Given the description of an element on the screen output the (x, y) to click on. 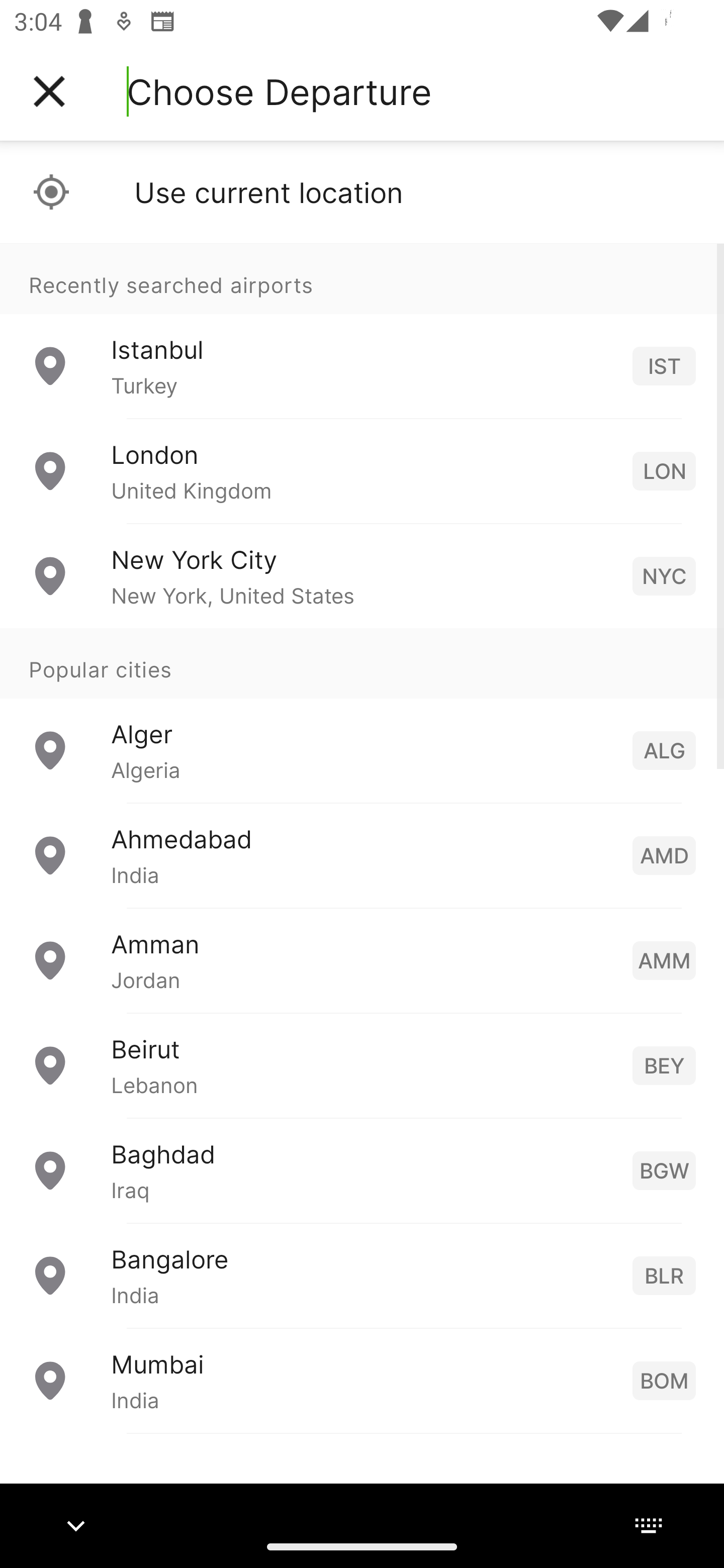
Choose Departure (279, 91)
Use current location (362, 192)
Recently searched airports Istanbul Turkey IST (362, 330)
Recently searched airports (362, 278)
London United Kingdom LON (362, 470)
New York City New York, United States NYC (362, 575)
Popular cities Alger Algeria ALG (362, 715)
Popular cities (362, 663)
Ahmedabad India AMD (362, 854)
Amman Jordan AMM (362, 959)
Beirut Lebanon BEY (362, 1064)
Baghdad Iraq BGW (362, 1170)
Bangalore India BLR (362, 1275)
Mumbai India BOM (362, 1380)
